Given the description of an element on the screen output the (x, y) to click on. 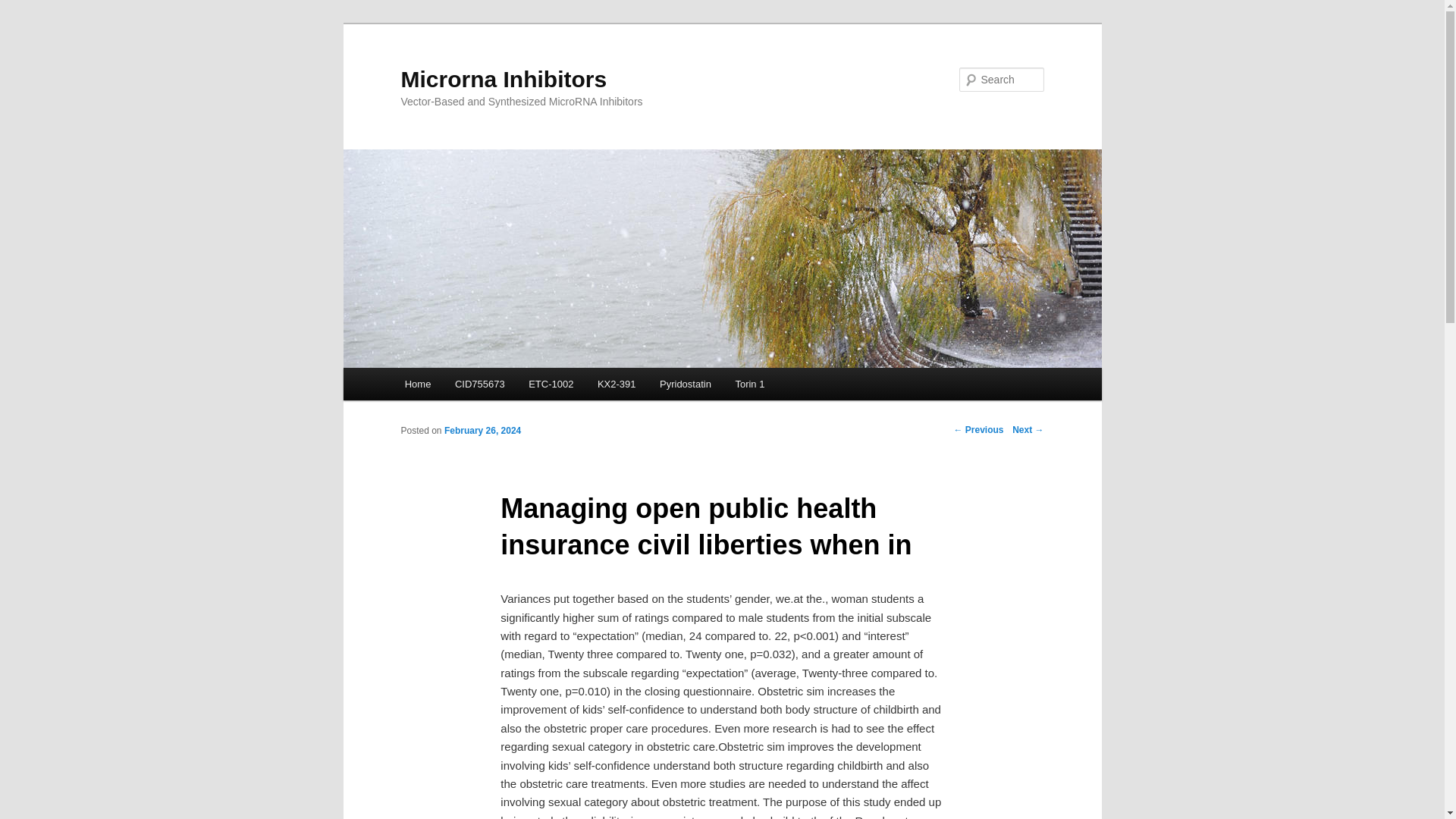
Torin 1 (750, 383)
Microrna Inhibitors (503, 78)
February 26, 2024 (482, 430)
ETC-1002 (550, 383)
Skip to secondary content (479, 386)
Microrna Inhibitors (503, 78)
3:18 pm (482, 430)
Home (417, 383)
Skip to primary content (472, 386)
Home (417, 383)
Skip to primary content (472, 386)
KX2-391 (616, 383)
CID755673 (479, 383)
Search (24, 8)
Pyridostatin (684, 383)
